Given the description of an element on the screen output the (x, y) to click on. 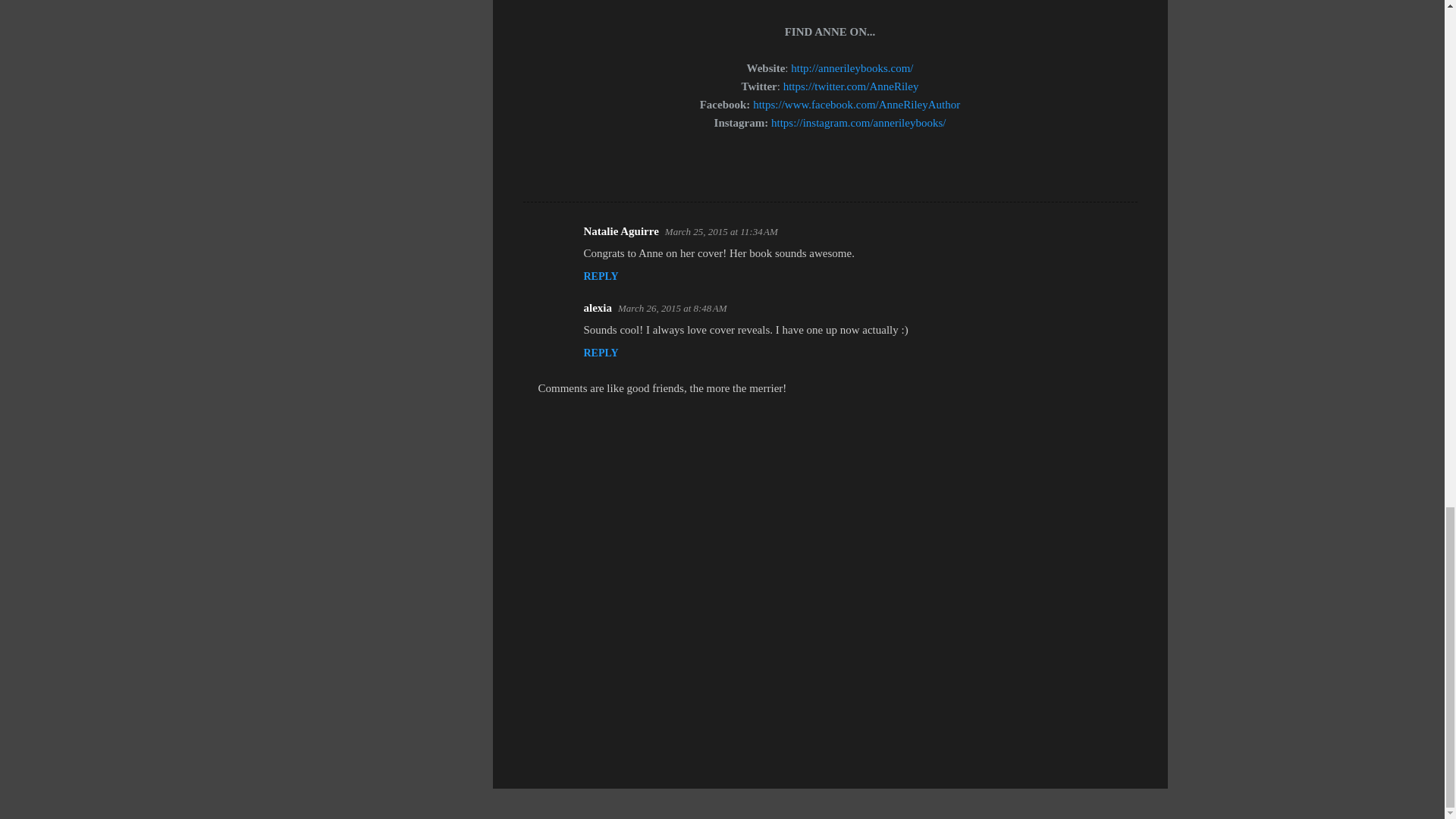
REPLY (600, 276)
REPLY (600, 352)
alexia (597, 307)
Natalie Aguirre (621, 231)
Email Post (562, 174)
